Given the description of an element on the screen output the (x, y) to click on. 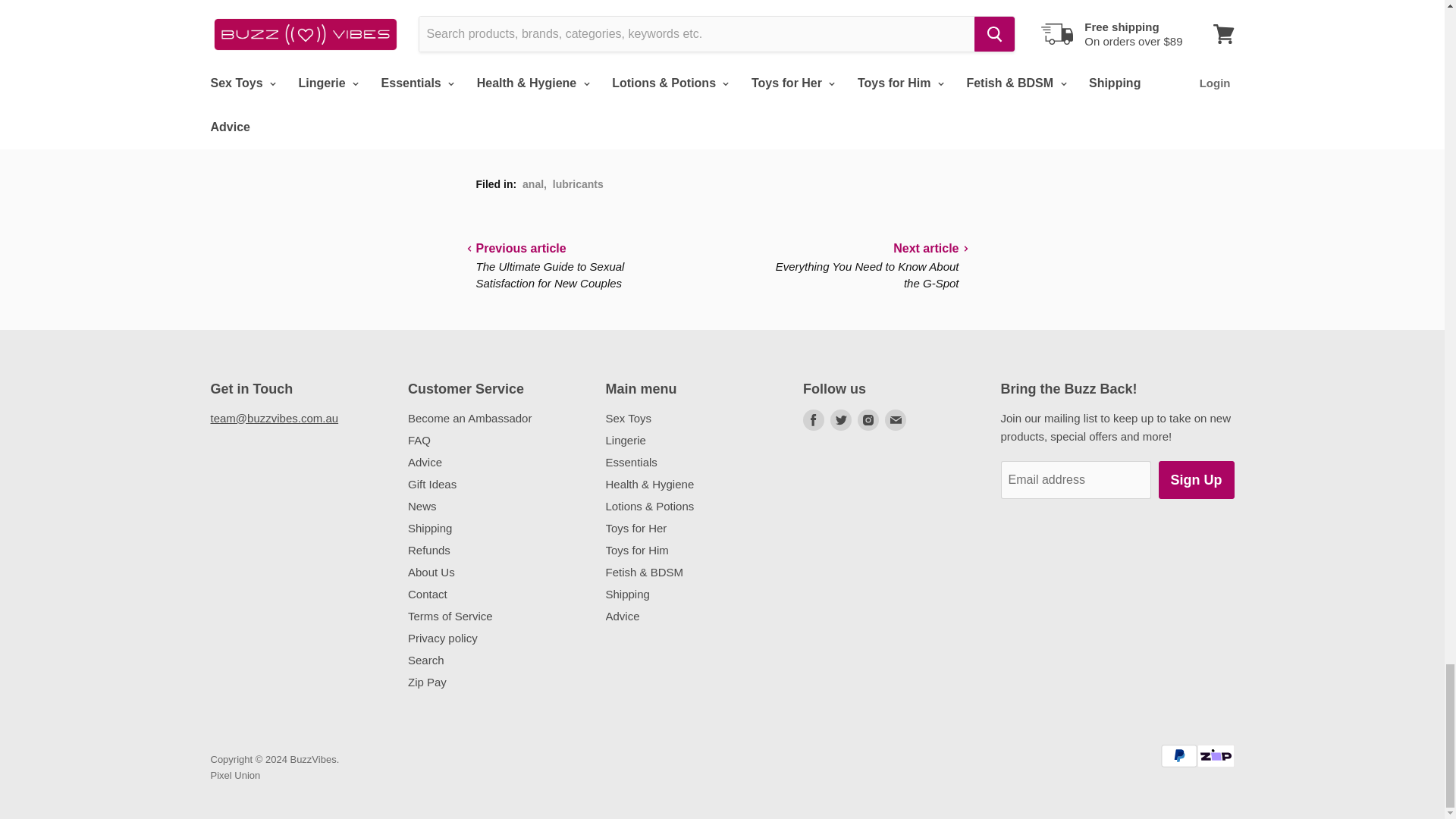
Twitter (840, 420)
Show articles tagged lubricants (578, 184)
Show articles tagged anal (532, 184)
Facebook (813, 420)
E-mail (895, 420)
Instagram (868, 420)
